Given the description of an element on the screen output the (x, y) to click on. 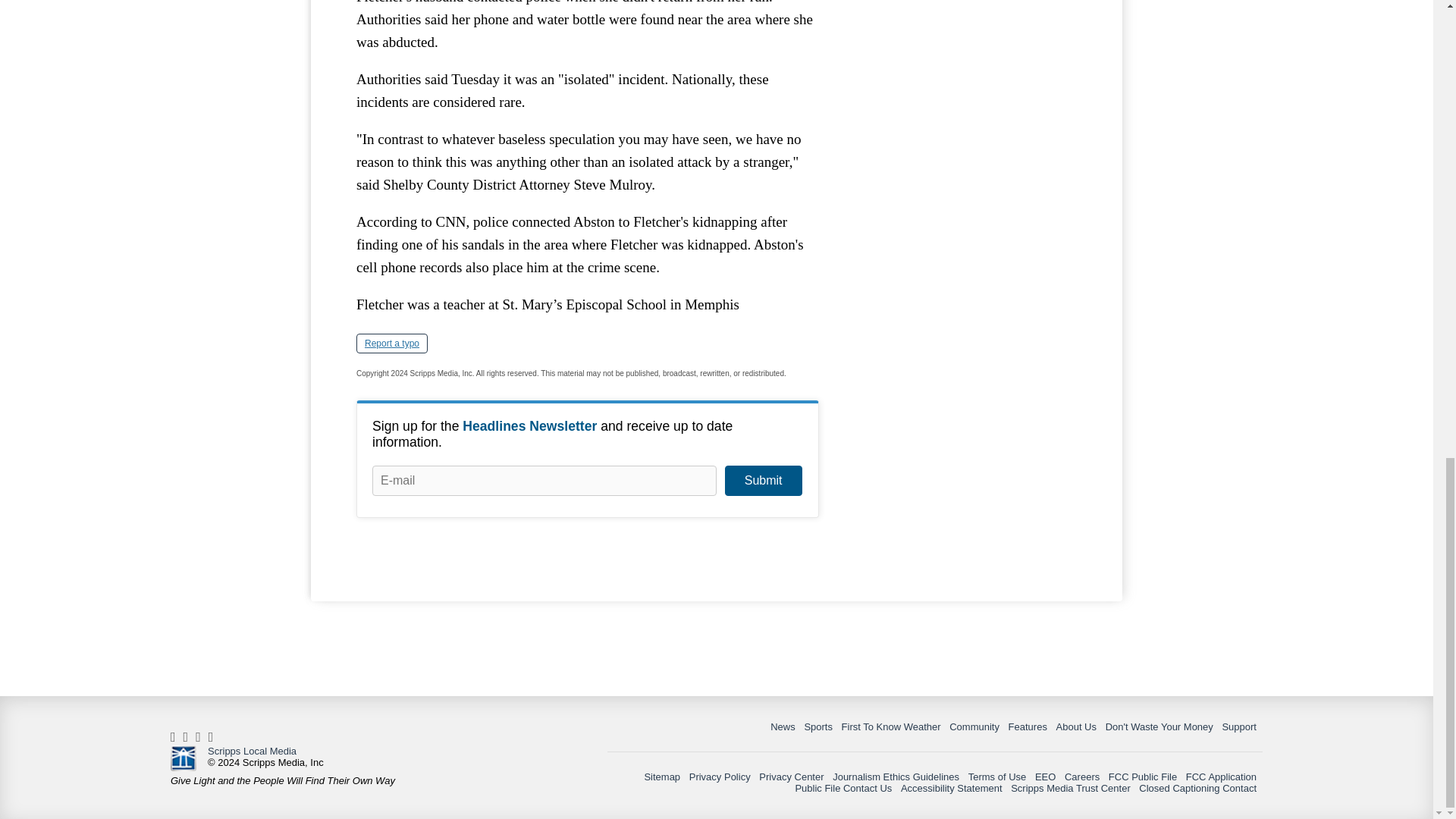
Submit (763, 481)
